Given the description of an element on the screen output the (x, y) to click on. 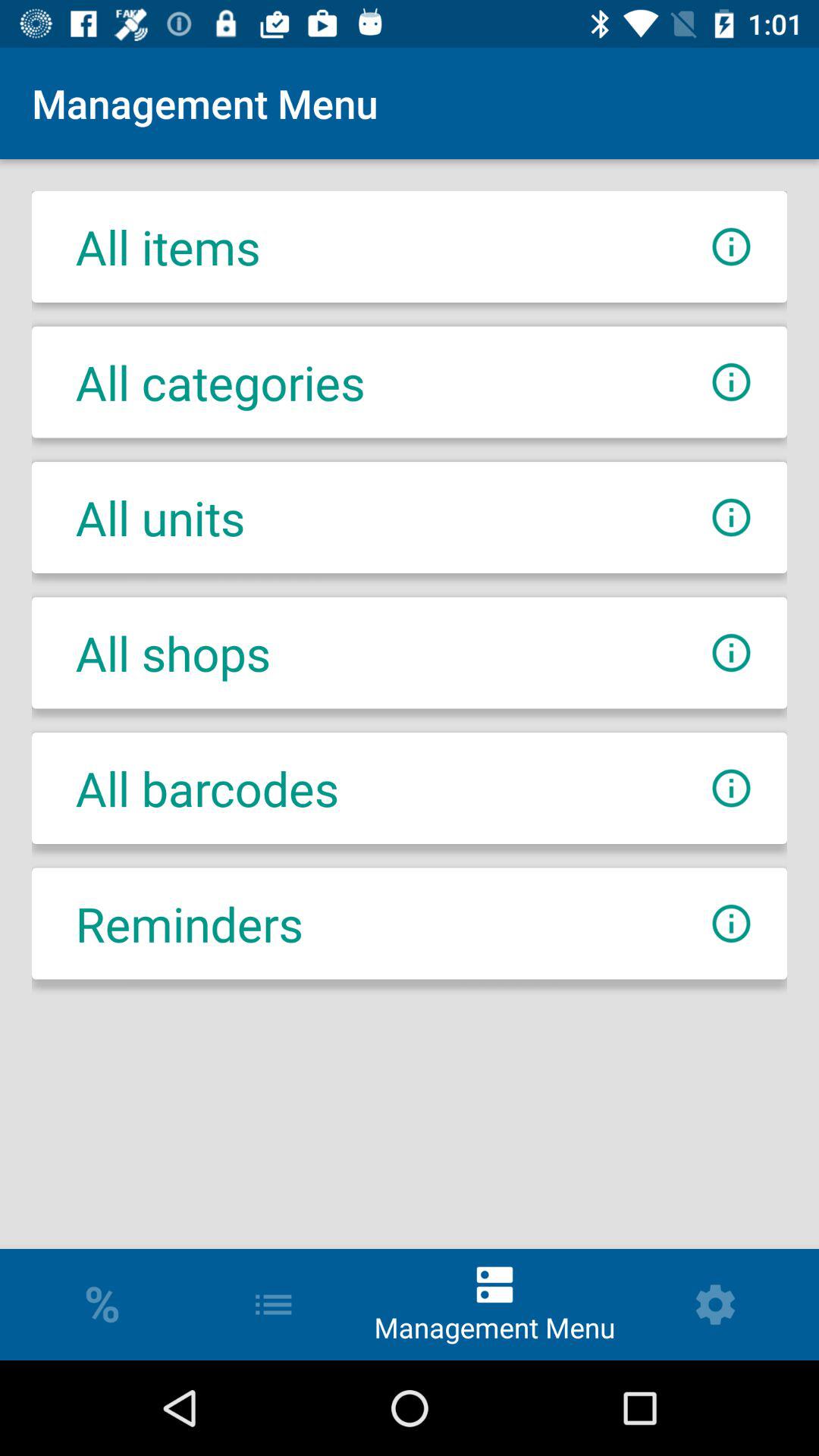
get information about categories (731, 381)
